Given the description of an element on the screen output the (x, y) to click on. 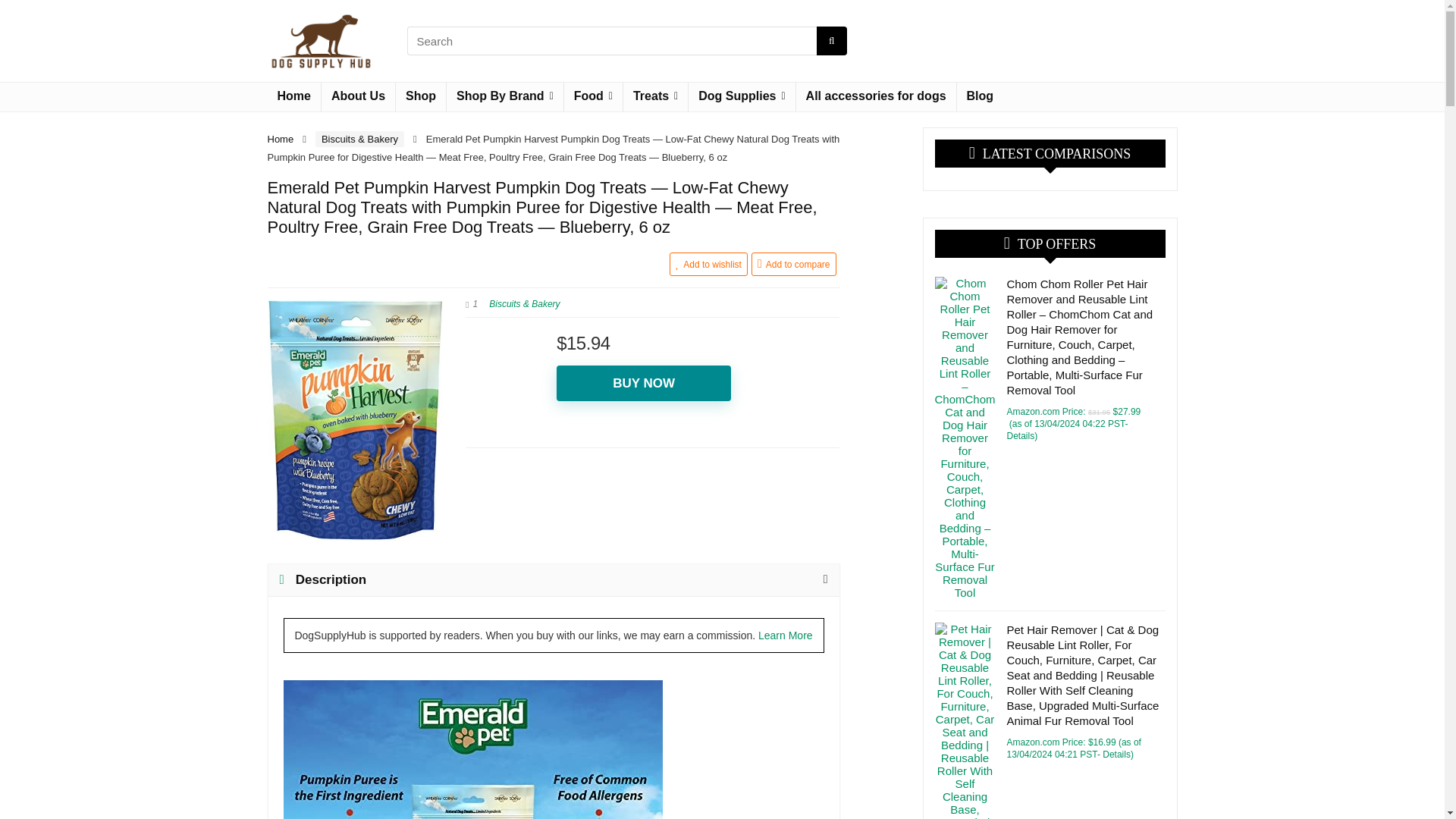
About Us (357, 96)
Dog Supplies (741, 96)
Home (293, 96)
Food (593, 96)
Shop (420, 96)
Shop By Brand (504, 96)
Treats (655, 96)
